Given the description of an element on the screen output the (x, y) to click on. 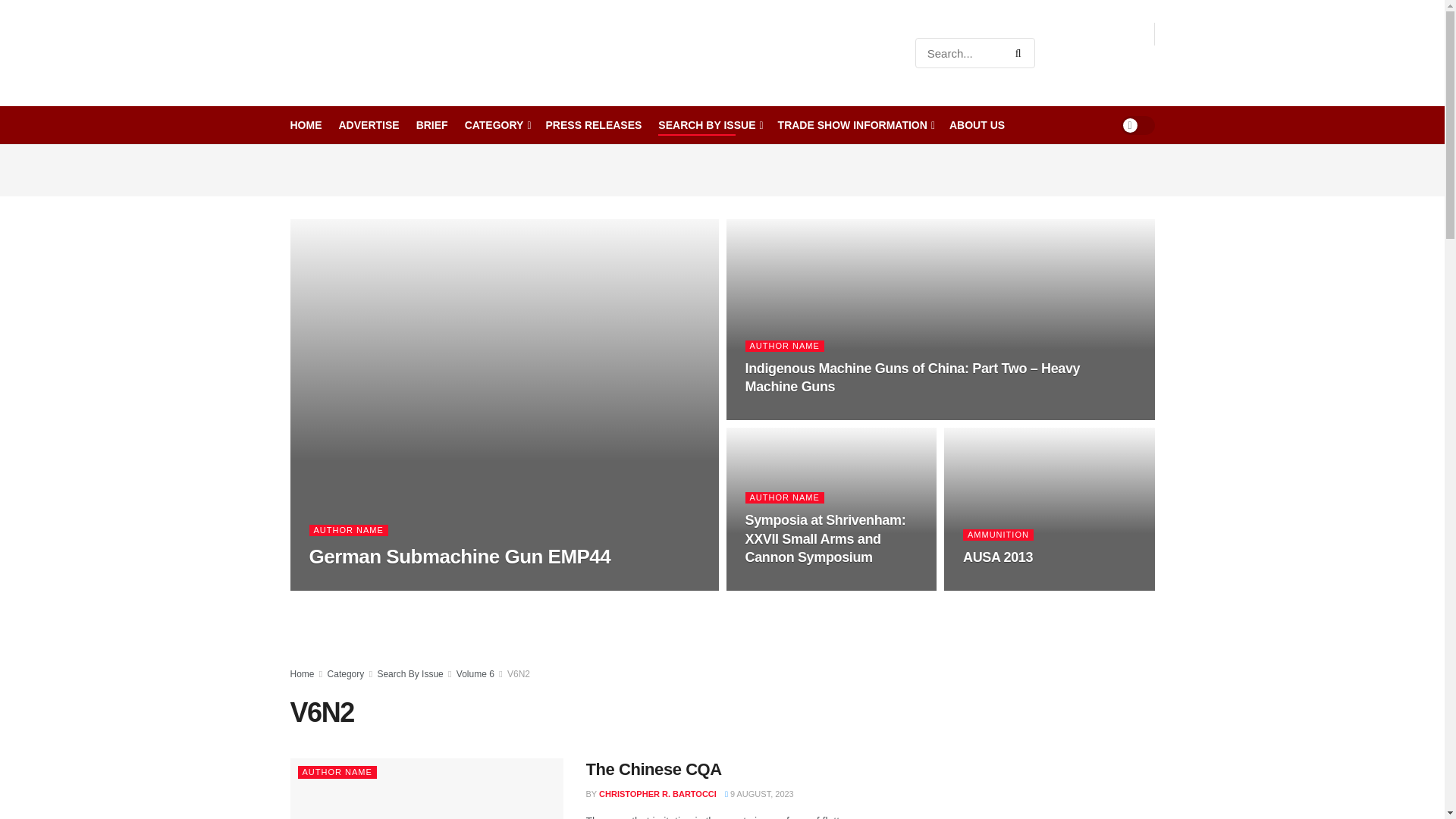
ADVERTISE (367, 124)
SEARCH BY ISSUE (709, 124)
PRESS RELEASES (594, 124)
CATEGORY (496, 124)
HOME (305, 124)
Login (1135, 64)
BRIEF (432, 124)
